Given the description of an element on the screen output the (x, y) to click on. 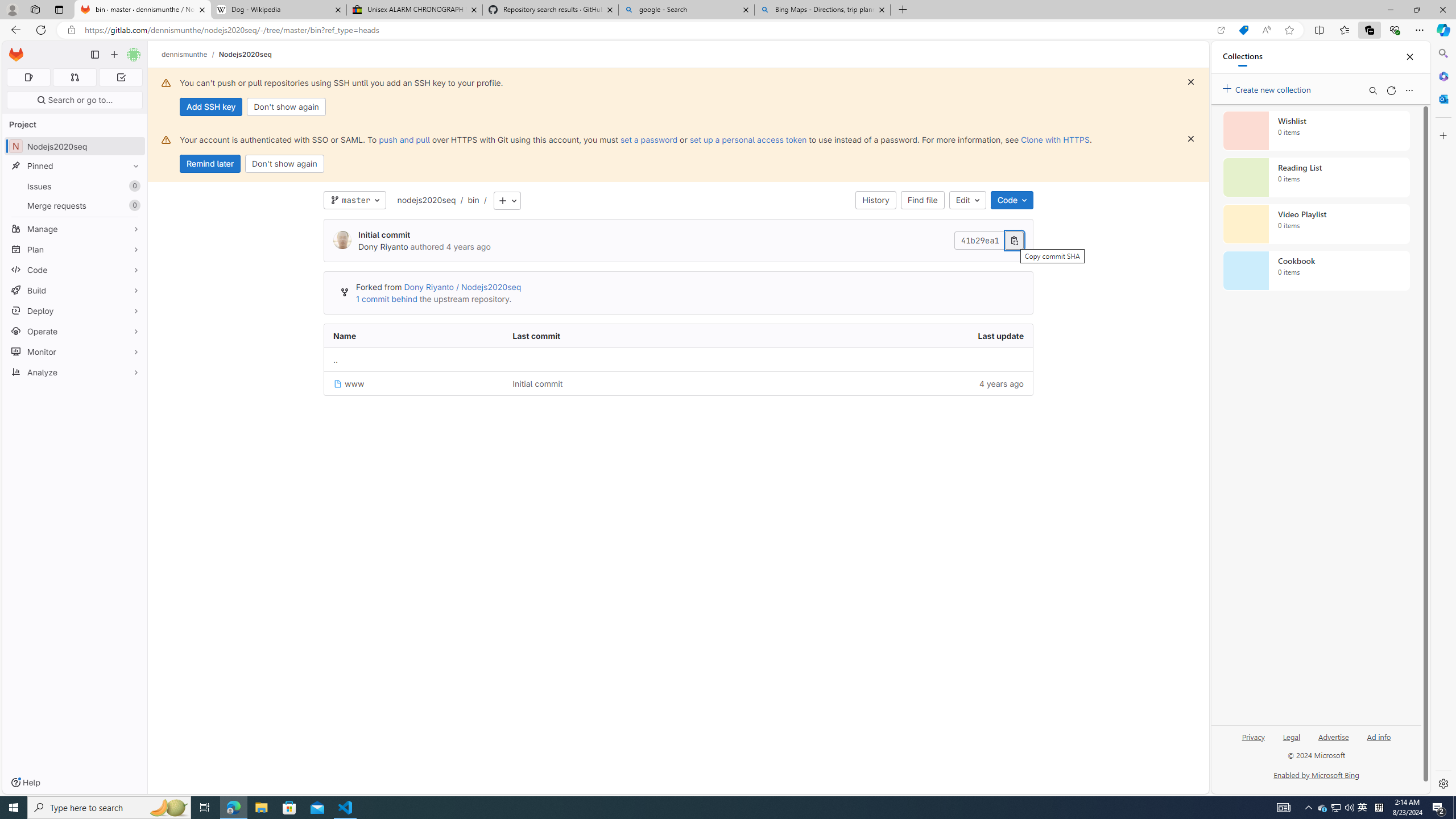
Copy commit SHA (1014, 240)
Dony Riyanto / Nodejs2020seq (462, 286)
Dony Riyanto's avatar (341, 239)
Class: s16 gl-alert-icon gl-alert-icon-no-title (165, 139)
Analyze (74, 371)
Code (1011, 199)
More options menu (1409, 90)
dennismunthe (184, 53)
Edit (967, 199)
Merge requests0 (74, 205)
Issues 0 (74, 185)
